Given the description of an element on the screen output the (x, y) to click on. 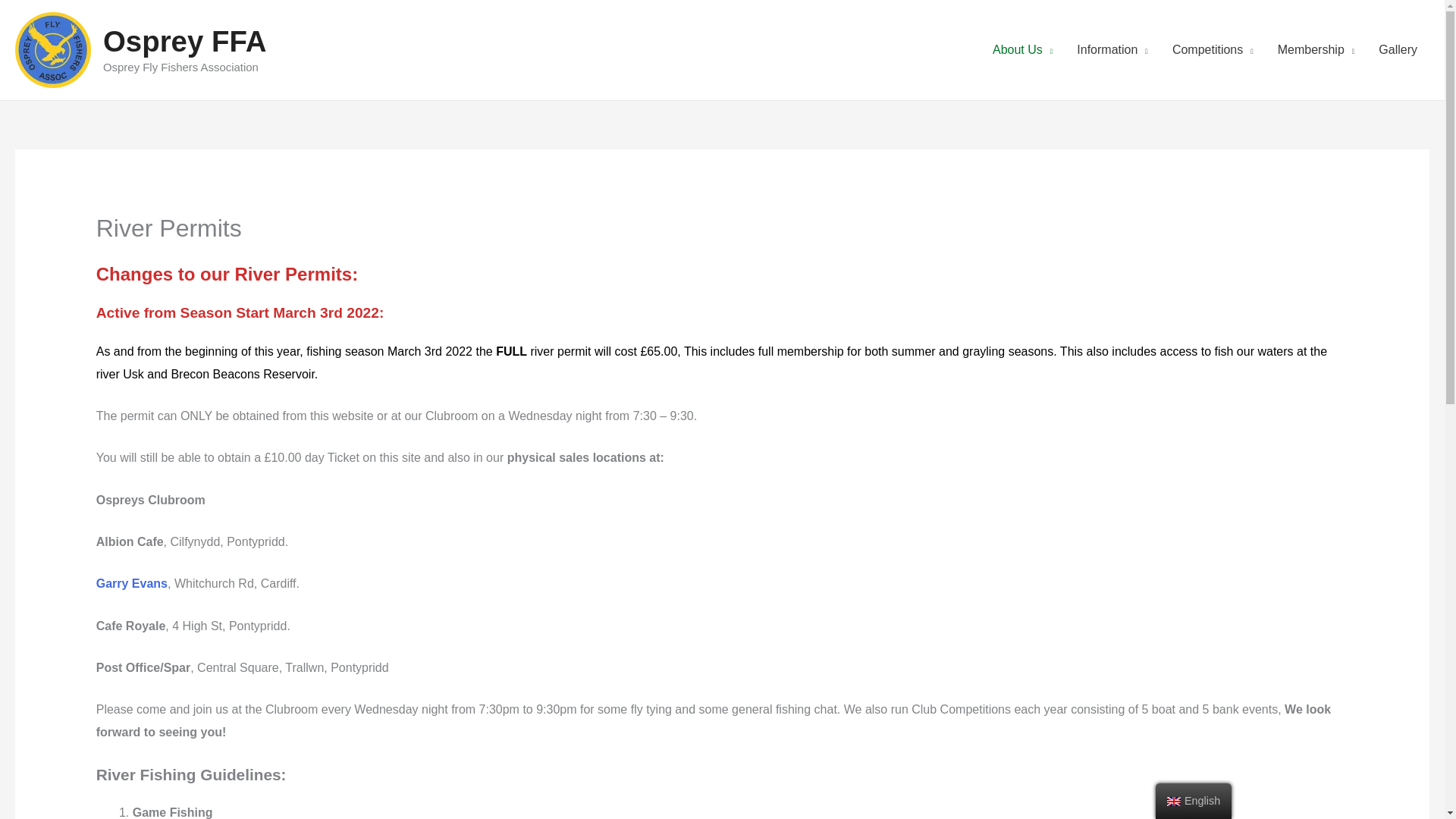
Information (1112, 49)
Membership (1316, 49)
Gallery (1398, 49)
Competitions (1212, 49)
Osprey FFA (184, 41)
English (1173, 800)
Garry Evans (131, 583)
English (1193, 800)
About Us (1021, 49)
